Given the description of an element on the screen output the (x, y) to click on. 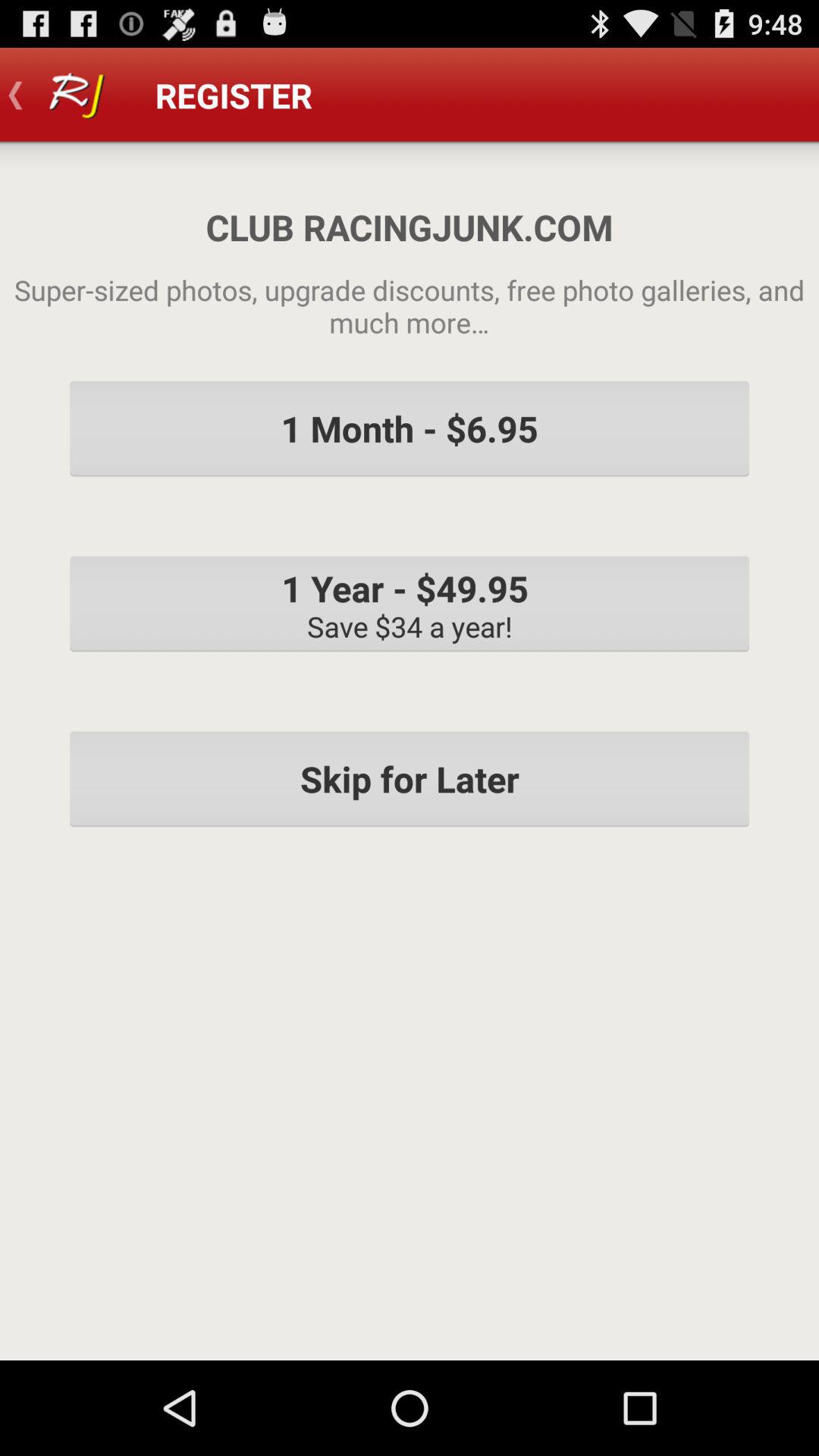
scroll until 1 month 6 item (409, 428)
